Given the description of an element on the screen output the (x, y) to click on. 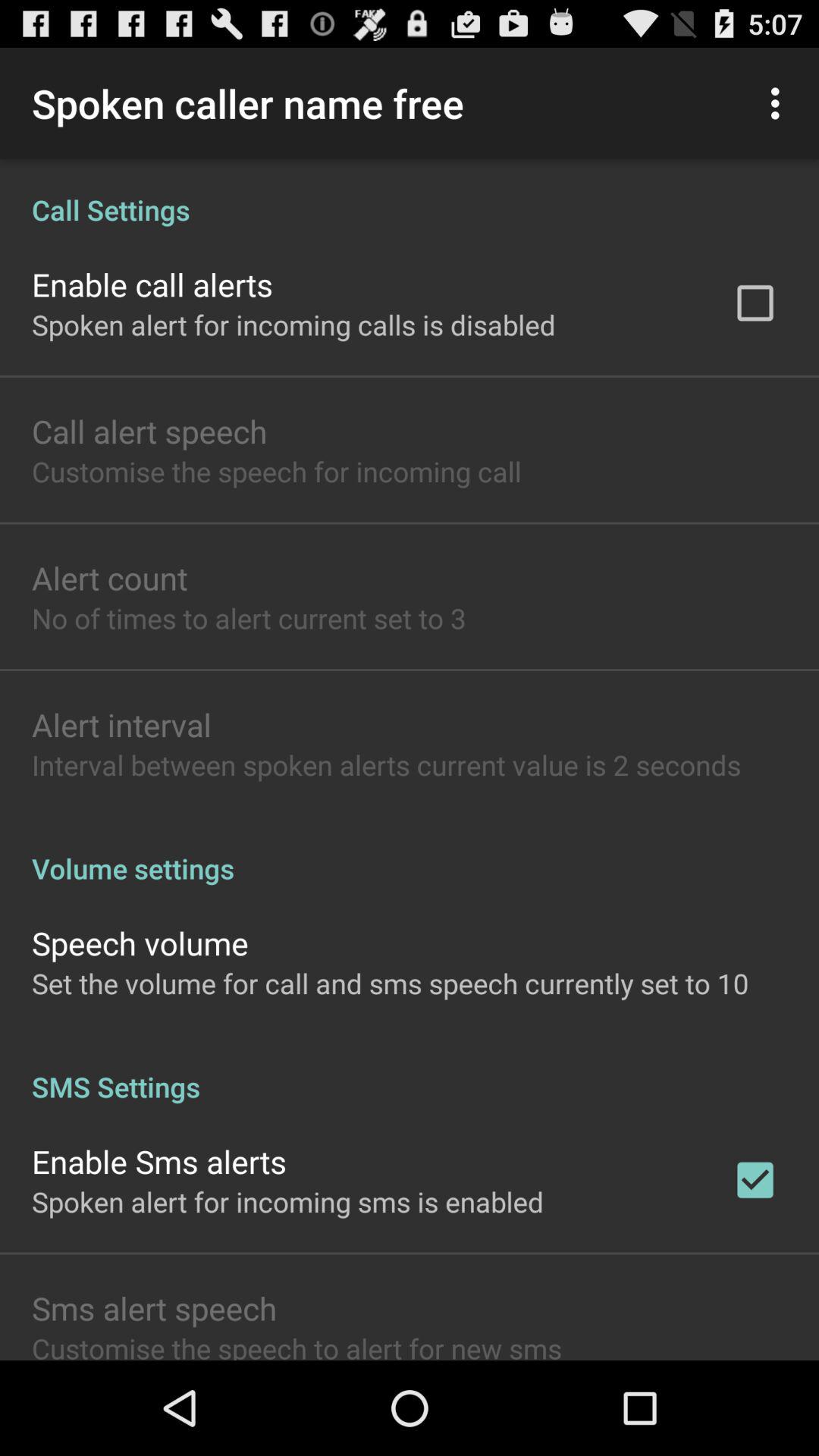
jump to the set the volume (390, 983)
